Given the description of an element on the screen output the (x, y) to click on. 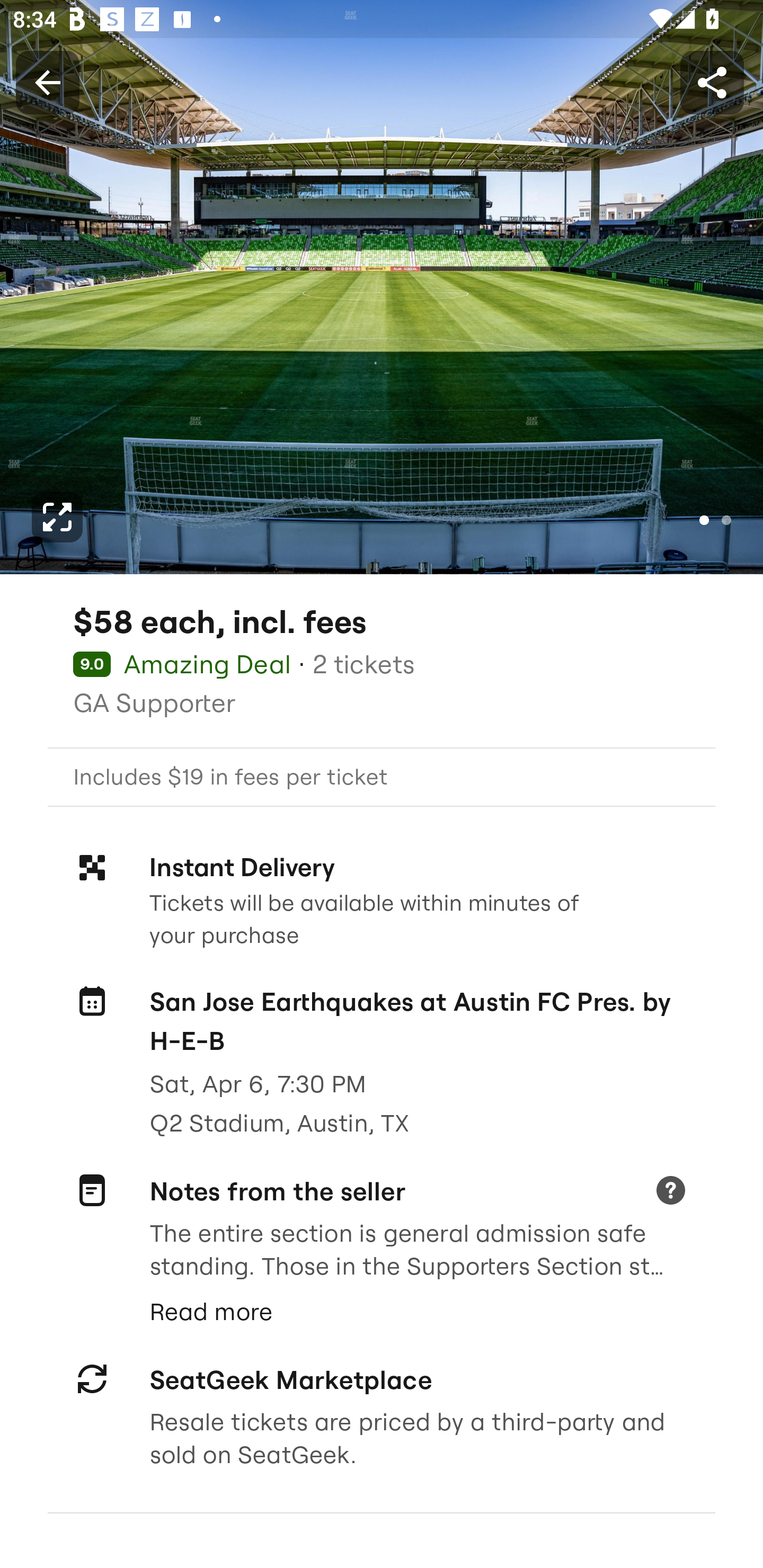
Back (47, 81)
Share (711, 81)
Expand image to fullscreen (57, 517)
Learn more (670, 1191)
